Given the description of an element on the screen output the (x, y) to click on. 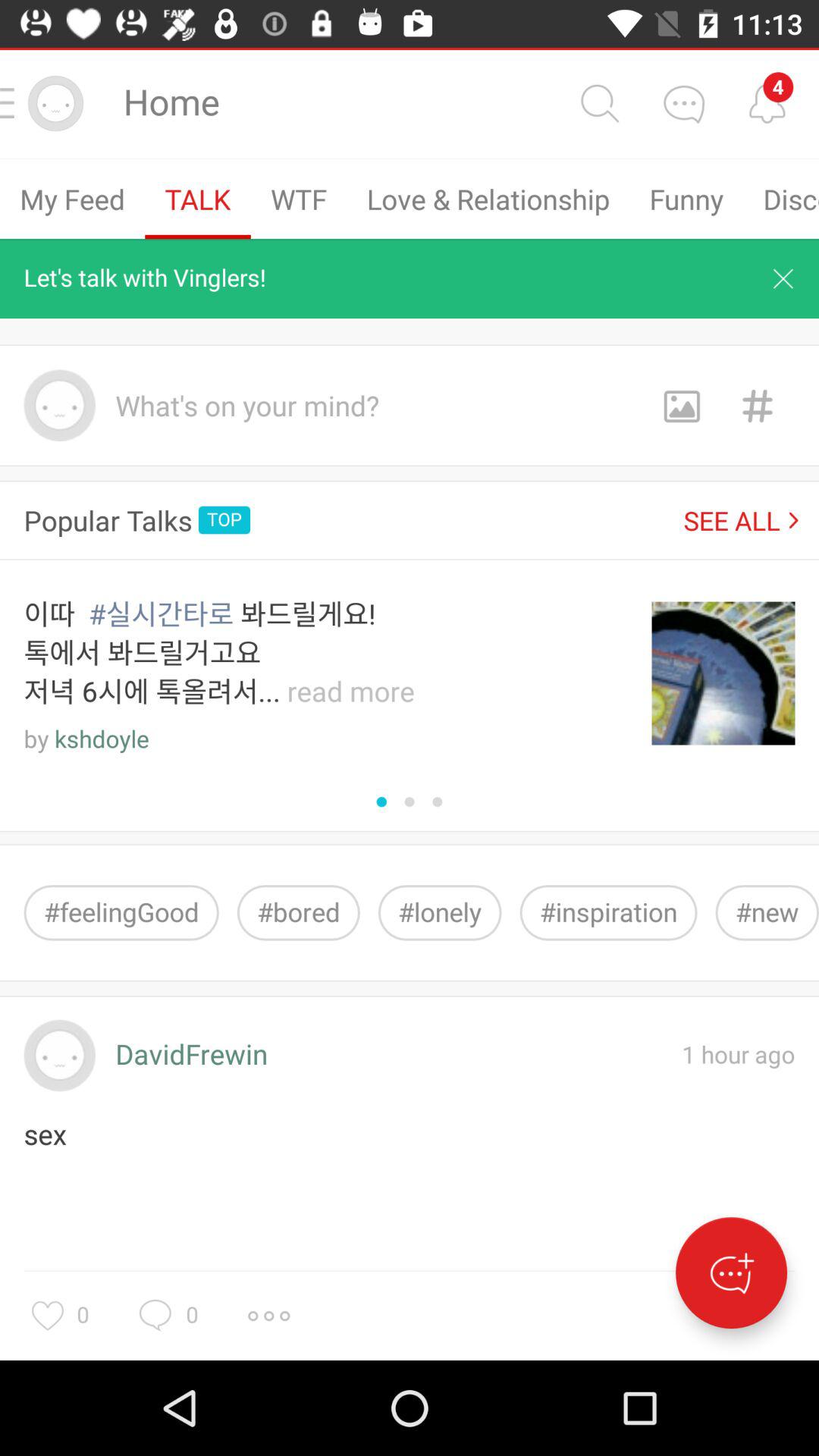
click item next to home item (599, 103)
